Given the description of an element on the screen output the (x, y) to click on. 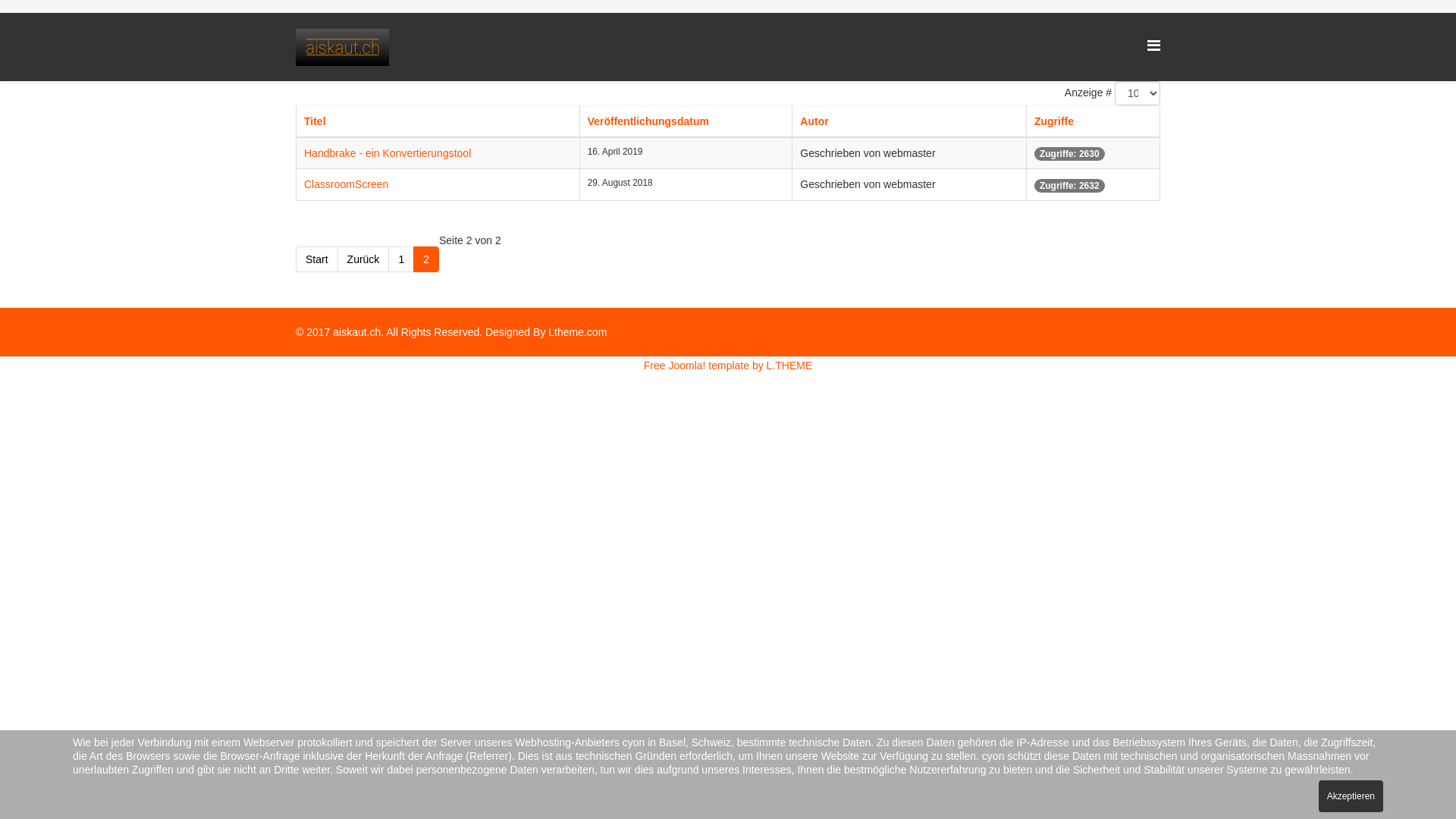
1 Element type: text (401, 259)
Handbrake - ein Konvertierungstool Element type: text (387, 153)
Start Element type: text (316, 259)
2 Element type: text (426, 259)
ClassroomScreen Element type: text (346, 184)
Free Joomla! template by L.THEME Element type: text (727, 365)
Autor Element type: text (814, 121)
Akzeptieren Element type: text (1350, 796)
Zugriffe Element type: text (1053, 121)
Titel Element type: text (315, 121)
